Given the description of an element on the screen output the (x, y) to click on. 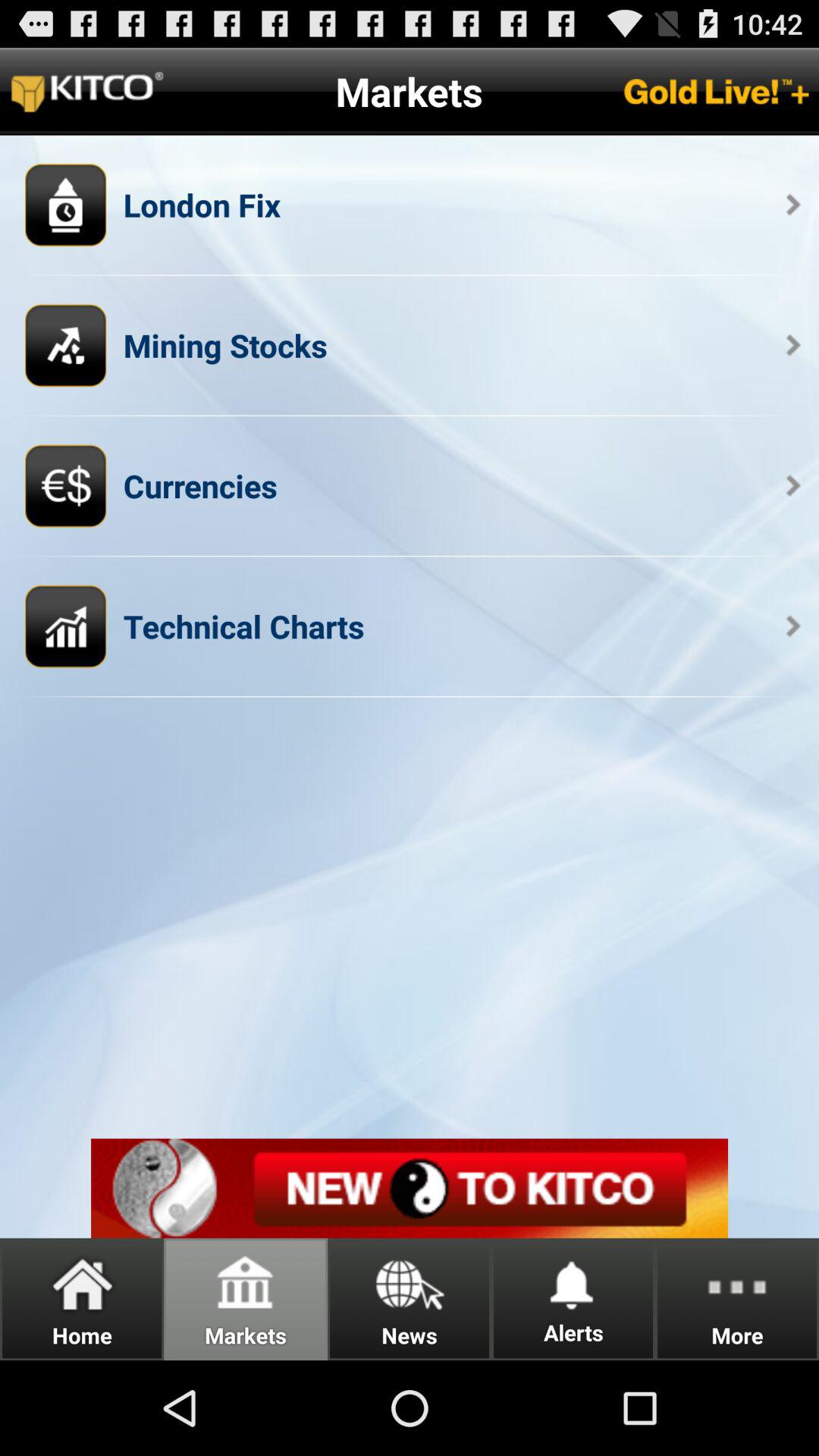
go to advertisement (409, 1188)
